Given the description of an element on the screen output the (x, y) to click on. 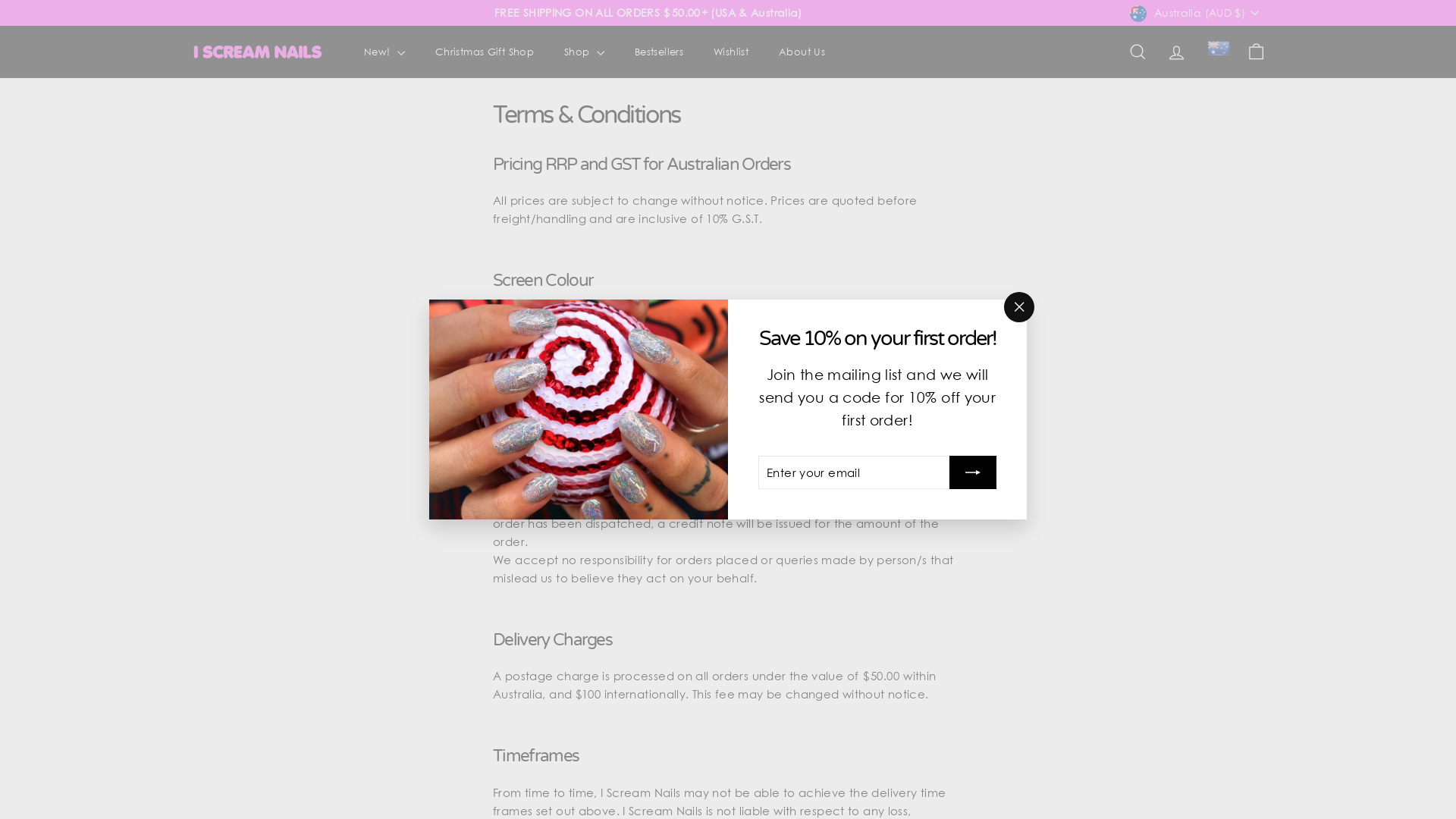
Christmas Gift Shop Element type: text (484, 51)
Cart Element type: text (1255, 51)
"Close (esc)" Element type: text (1019, 306)
Account Element type: text (1176, 51)
Bestsellers Element type: text (658, 51)
Search Element type: text (1137, 51)
About Us Element type: text (801, 51)
Wishlist Element type: text (730, 51)
Australia (AUD $) Element type: text (1197, 12)
